Given the description of an element on the screen output the (x, y) to click on. 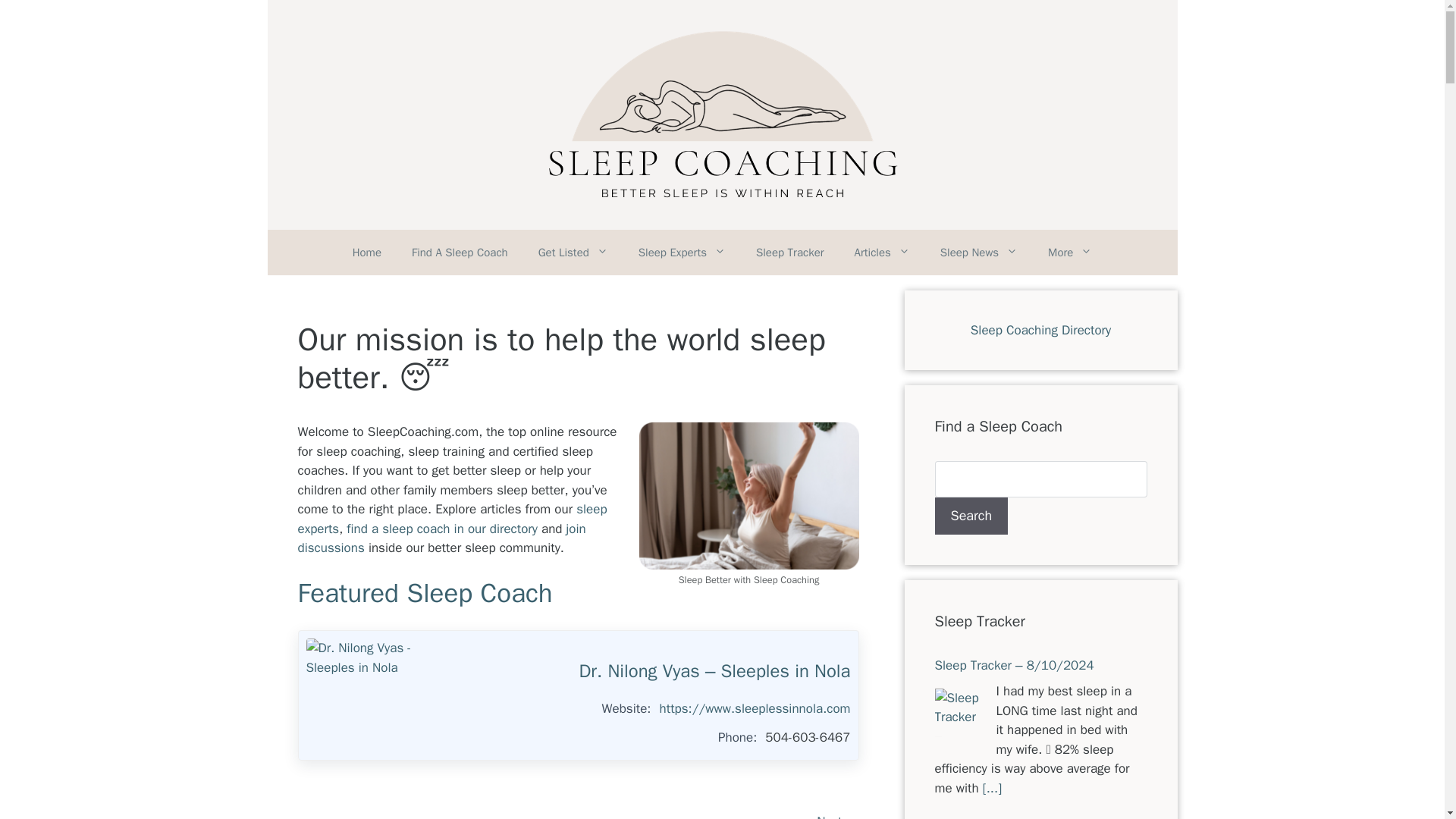
Find A Sleep Coach (459, 251)
Get Listed (572, 251)
find a sleep coach in our directory (441, 528)
Search (970, 515)
Dr. Nilong Vyas - Sleeples in Nola (362, 695)
More (1069, 251)
join discussions (441, 538)
Sleep News (978, 251)
Sleep Better with Sleep Coaching (749, 495)
Sleep Experts (682, 251)
